Given the description of an element on the screen output the (x, y) to click on. 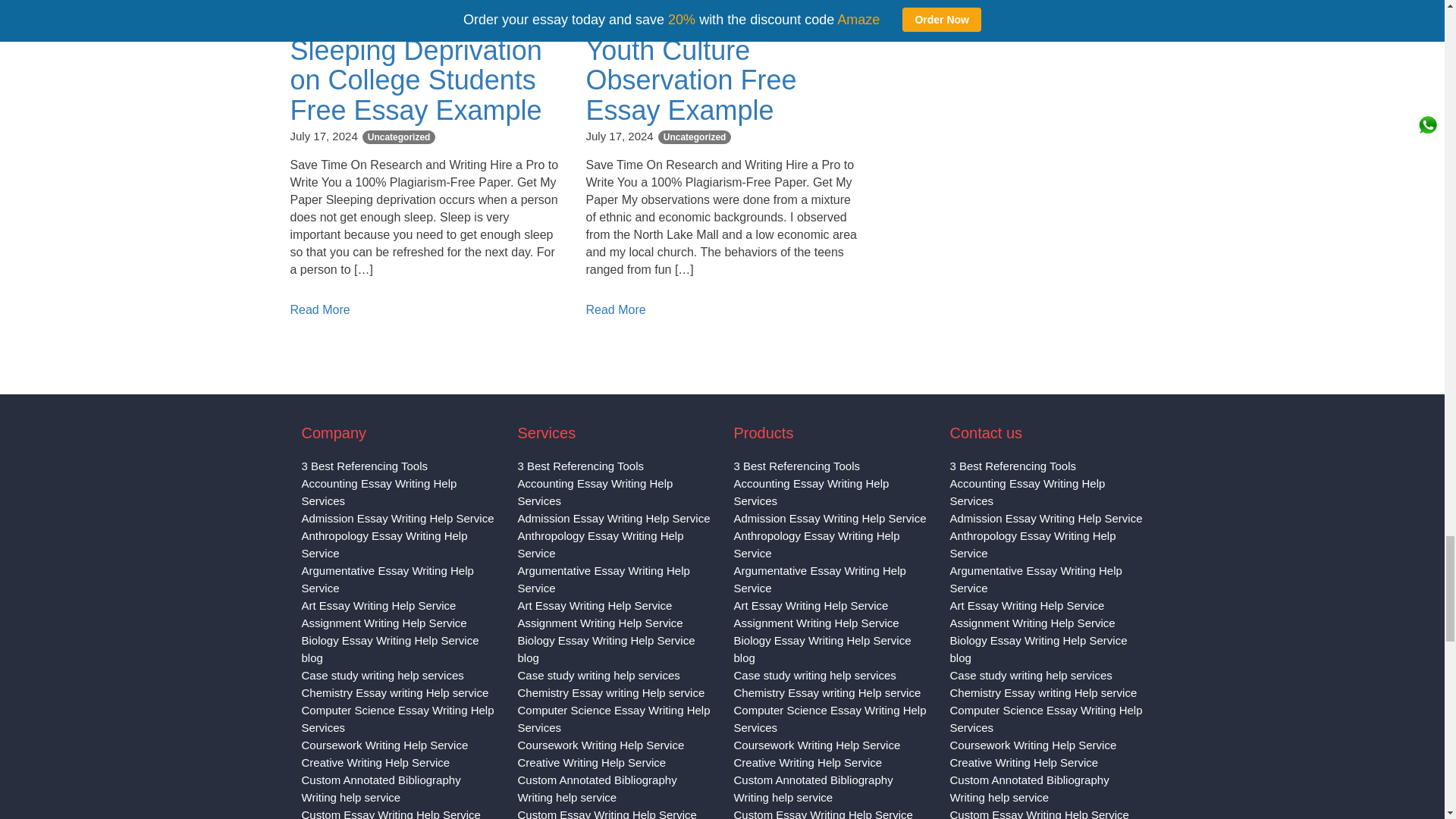
Read More (910, 5)
